Given the description of an element on the screen output the (x, y) to click on. 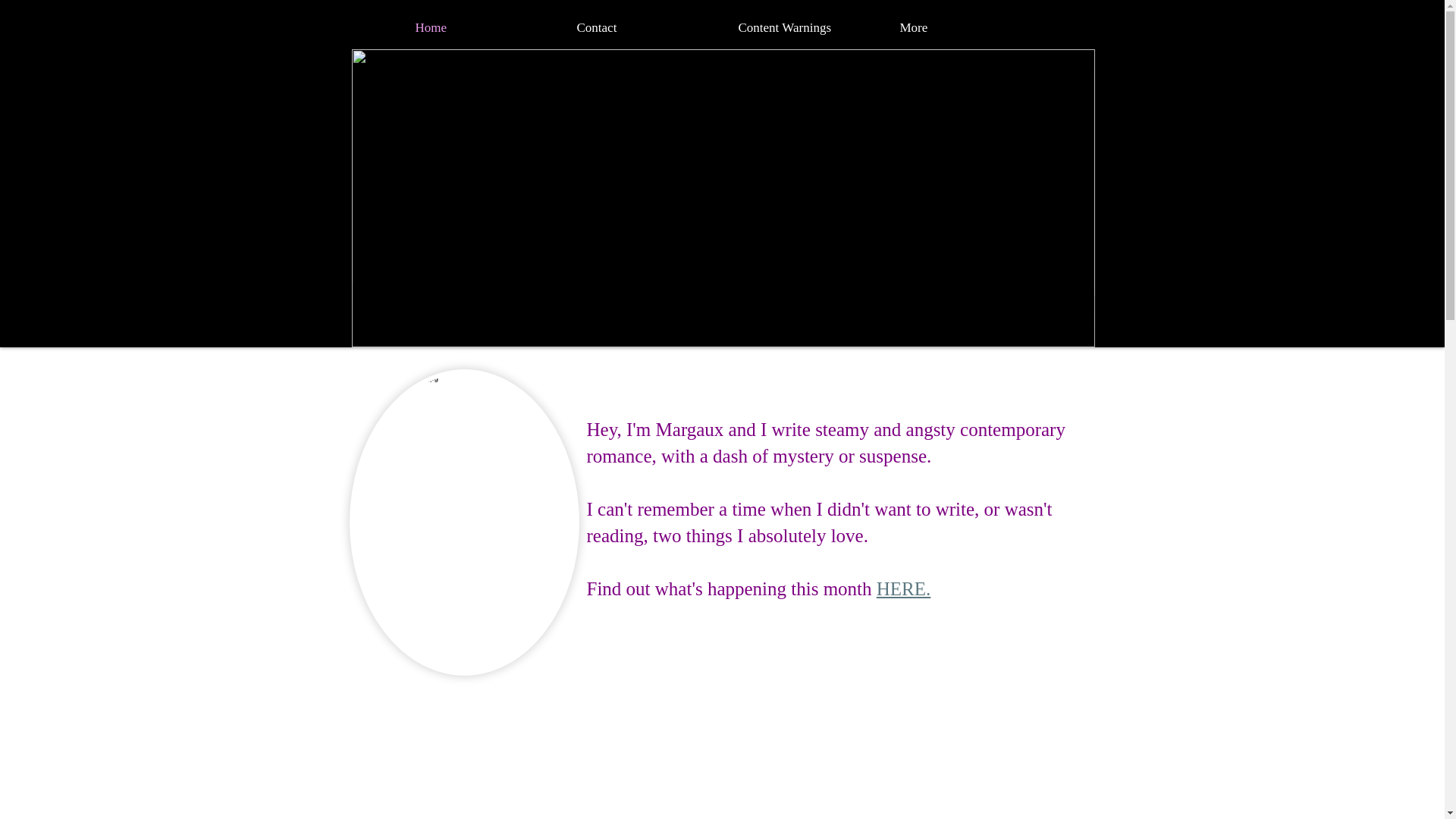
Contact (642, 27)
Home (480, 27)
HERE. (903, 588)
Content Warnings (803, 27)
